Given the description of an element on the screen output the (x, y) to click on. 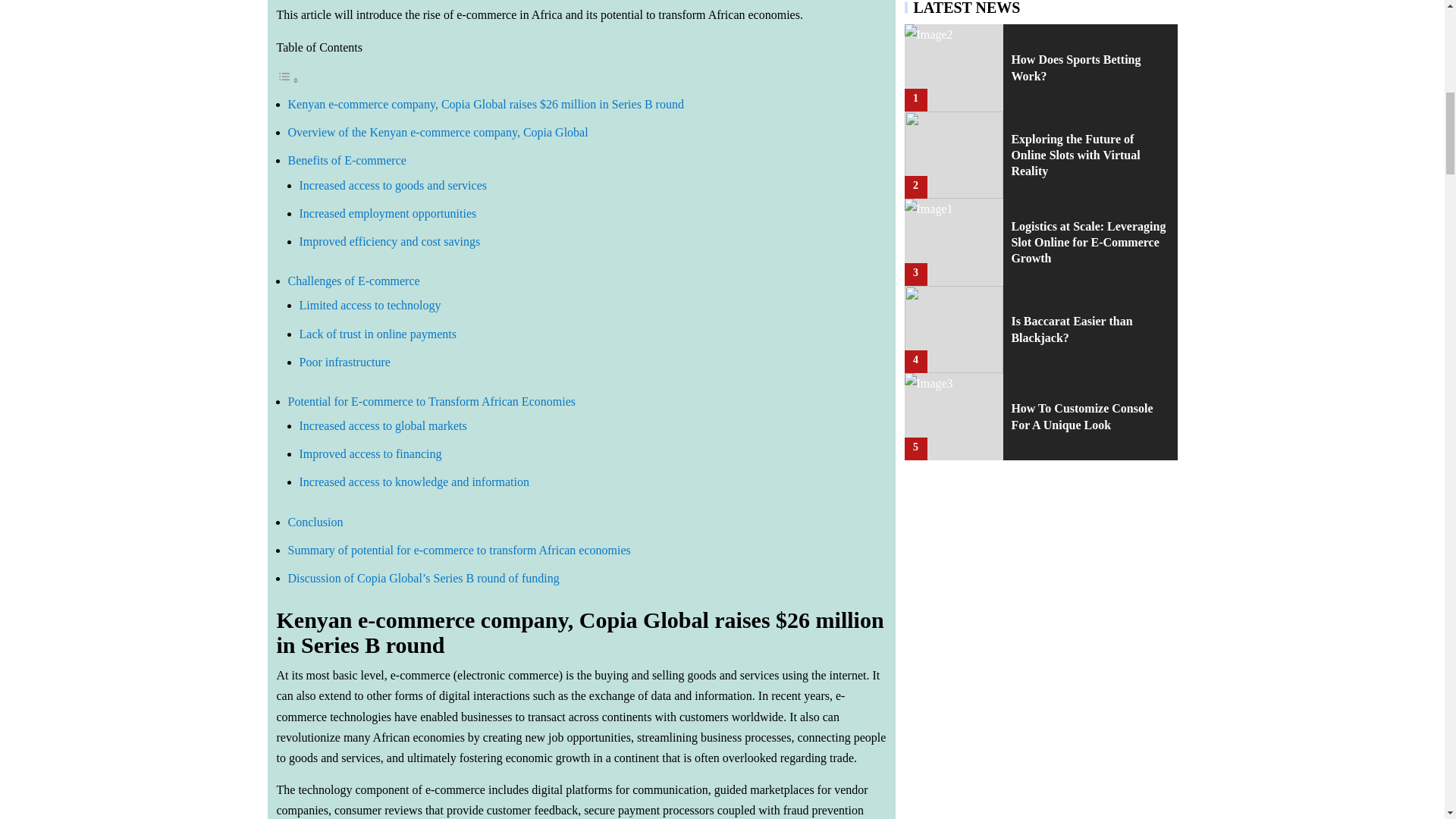
Conclusion (315, 521)
Increased access to global markets (381, 425)
Potential for E-commerce to Transform African Economies (431, 400)
Lack of trust in online payments (377, 333)
Benefits of E-commerce (347, 160)
Increased access to goods and services (392, 185)
Potential for E-commerce to Transform African Economies (431, 400)
Lack of trust in online payments (377, 333)
Poor infrastructure (344, 361)
Improved access to financing (369, 453)
Improved efficiency and cost savings (389, 241)
Increased employment opportunities (387, 213)
Challenges of E-commerce (354, 280)
Benefits of E-commerce (347, 160)
